Given the description of an element on the screen output the (x, y) to click on. 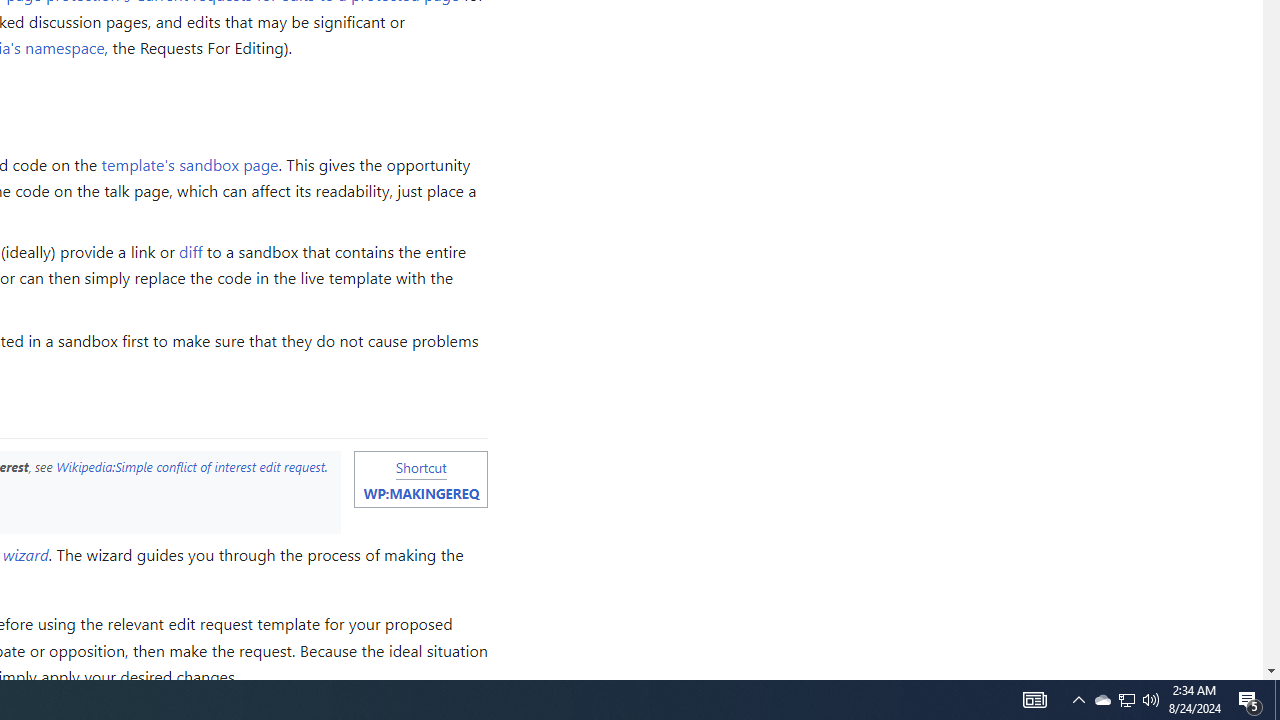
diff (191, 251)
Wikipedia:Simple conflict of interest edit request (190, 466)
Shortcut (420, 466)
WP:MAKINGEREQ (420, 493)
template's sandbox page (190, 163)
